Given the description of an element on the screen output the (x, y) to click on. 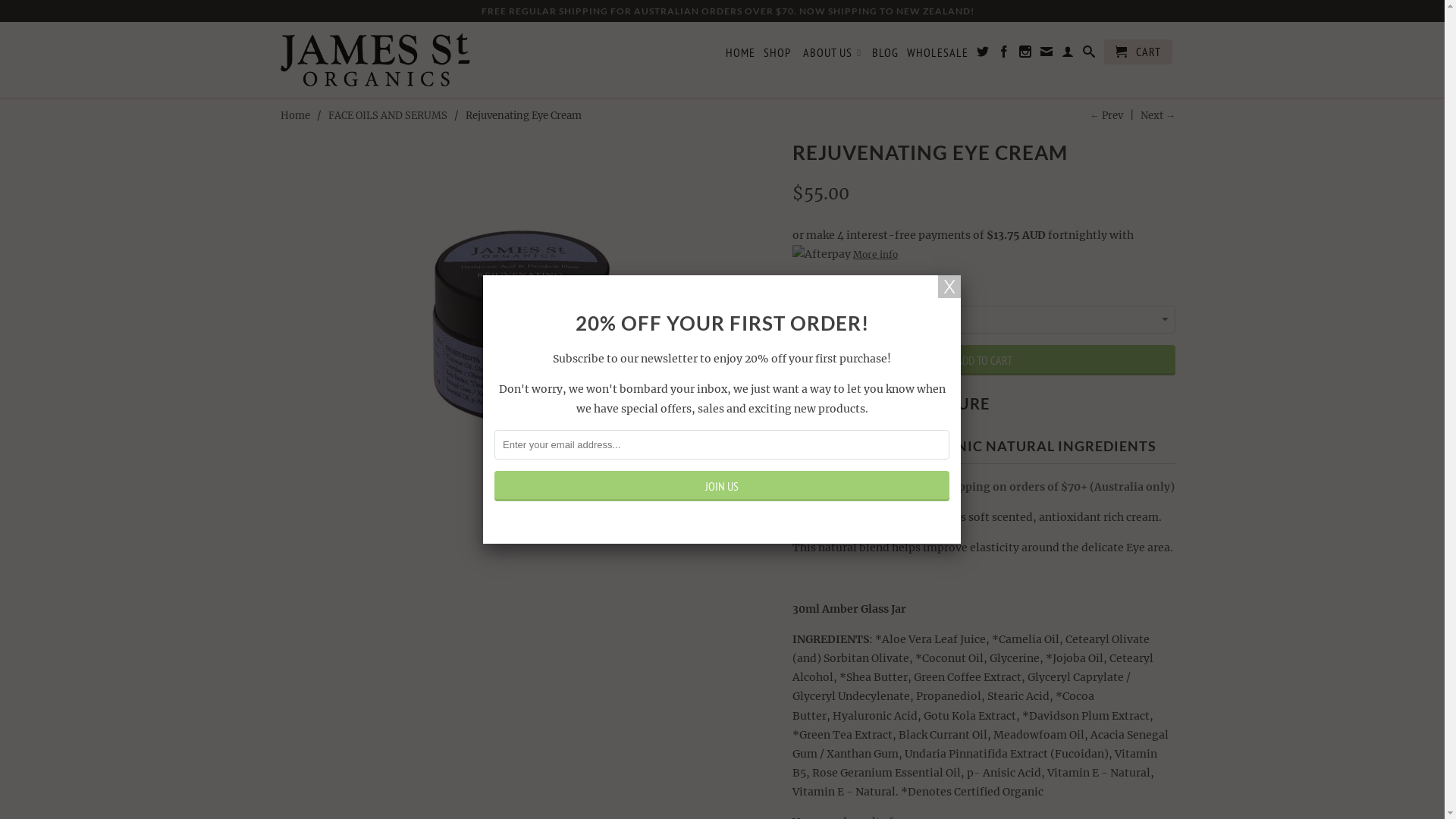
WHOLESALE Element type: text (937, 55)
Home Element type: text (295, 115)
Close Element type: hover (949, 286)
FACE OILS AND SERUMS Element type: text (387, 115)
HOME Element type: text (740, 55)
Rejuvenating Eye Cream Element type: hover (528, 319)
James St Organics on Instagram Element type: hover (1025, 54)
More info Element type: text (844, 254)
Join us Element type: text (721, 485)
James St Organics on Facebook Element type: hover (1003, 54)
BLOG Element type: text (885, 55)
ADD TO CART Element type: text (983, 360)
James St Organics Element type: hover (375, 59)
CART Element type: text (1138, 51)
Email James St Organics Element type: hover (1046, 54)
SHOP Element type: text (776, 55)
Search Element type: hover (1088, 54)
James St Organics on Twitter Element type: hover (982, 54)
My Account  Element type: hover (1067, 54)
